Given the description of an element on the screen output the (x, y) to click on. 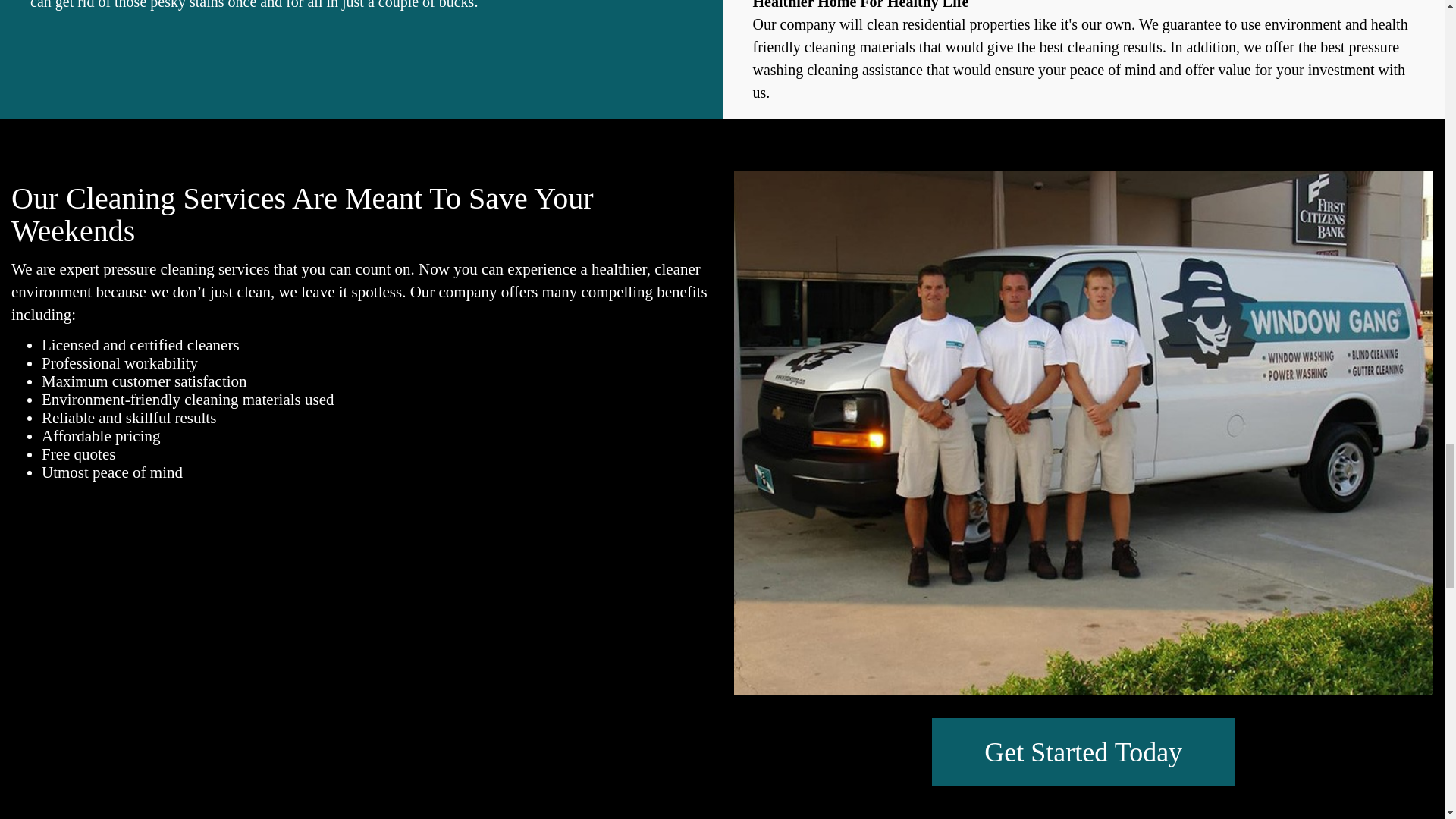
Get Started Today (1082, 752)
